Given the description of an element on the screen output the (x, y) to click on. 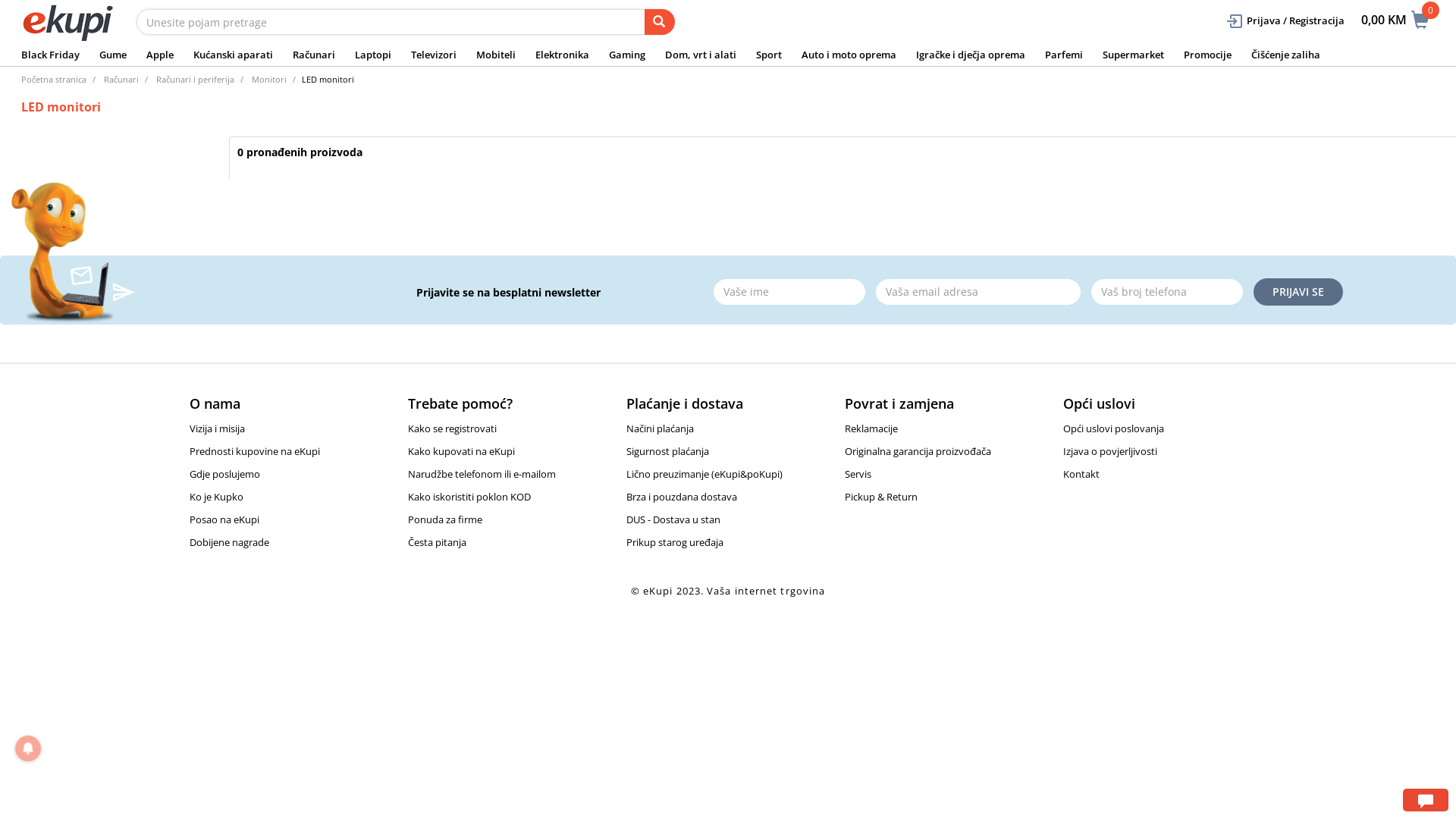
Brza i pouzdana dostava Element type: text (681, 496)
Kako iskoristiti poklon KOD Element type: text (468, 496)
Gdje poslujemo Element type: text (224, 473)
Kako kupovati na eKupi Element type: text (460, 451)
Reklamacije Element type: text (870, 428)
DUS - Dostava u stan Element type: text (673, 519)
Ponuda za firme Element type: text (444, 519)
Laptopi Element type: text (373, 54)
Servis Element type: text (857, 473)
Gaming Element type: text (627, 54)
Kako se registrovati Element type: text (451, 428)
PRIJAVI SE Element type: text (1298, 291)
Pickup & Return Element type: text (880, 496)
Dom, vrt i alati Element type: text (700, 54)
Prijava / Registracija Element type: text (1284, 20)
Supermarket Element type: text (1132, 54)
Dobijene nagrade Element type: text (229, 542)
Parfemi Element type: text (1063, 54)
Kontakt Element type: text (1081, 473)
Televizori Element type: text (433, 54)
Ko je Kupko Element type: text (216, 496)
Mobiteli Element type: text (495, 54)
Black Friday Element type: text (50, 54)
Gume Element type: text (112, 54)
Sport Element type: text (768, 54)
0,00 KM
0 Element type: text (1395, 20)
Elektronika Element type: text (562, 54)
Prednosti kupovine na eKupi Element type: text (254, 451)
eKupi logo Element type: hover (67, 22)
Promocije Element type: text (1207, 54)
Izjava o povjerljivosti Element type: text (1110, 451)
Monitori Element type: text (268, 78)
Apple Element type: text (159, 54)
Auto i moto oprema Element type: text (848, 54)
Posao na eKupi Element type: text (224, 519)
Vizija i misija Element type: text (216, 428)
